Given the description of an element on the screen output the (x, y) to click on. 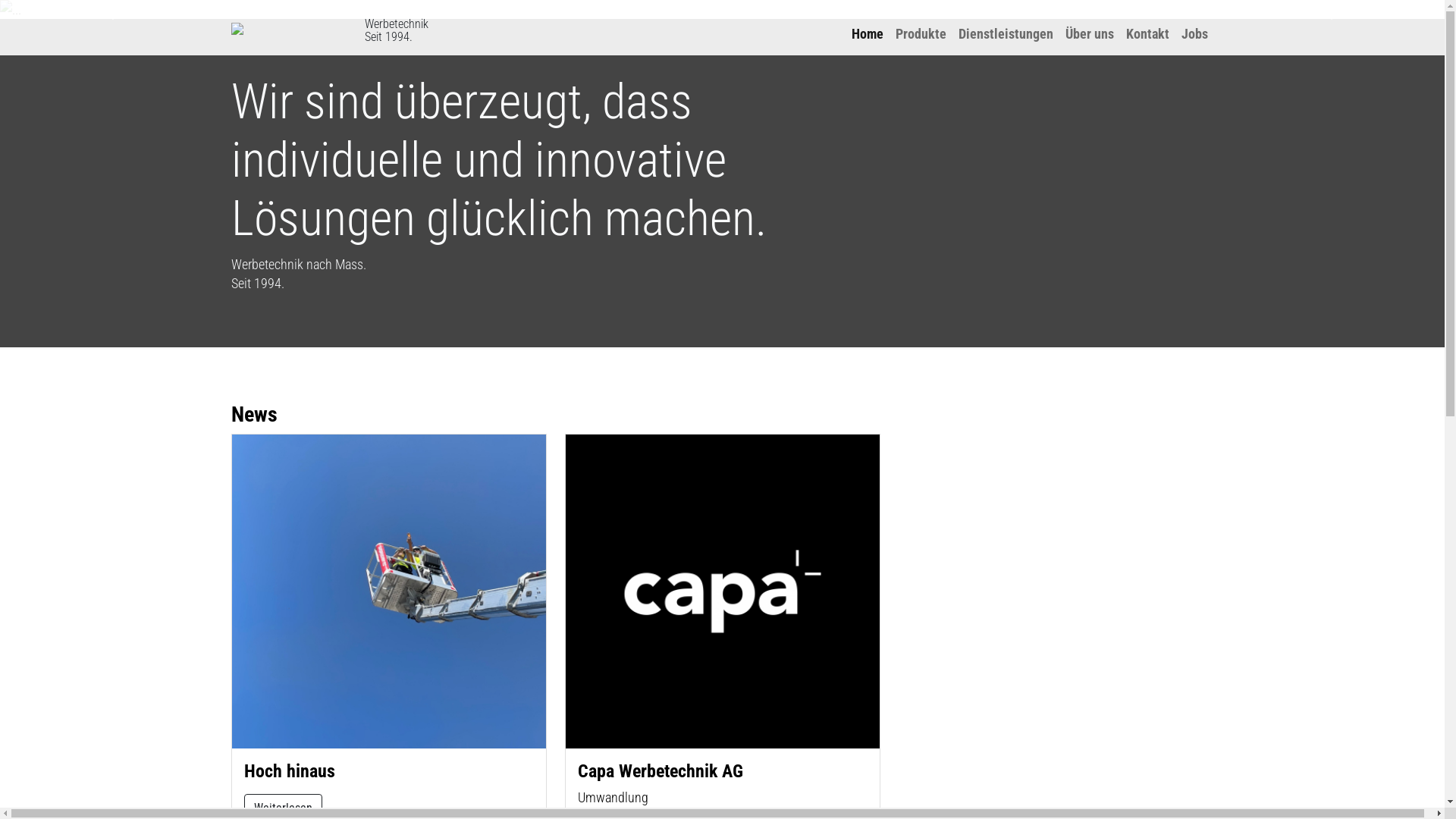
Dienstleistungen Element type: text (1005, 33)
Previous Element type: text (108, 9)
Jobs Element type: text (1194, 33)
Next Element type: text (1335, 9)
Home Element type: text (866, 33)
Produkte Element type: text (919, 33)
Kontakt Element type: text (1146, 33)
